Given the description of an element on the screen output the (x, y) to click on. 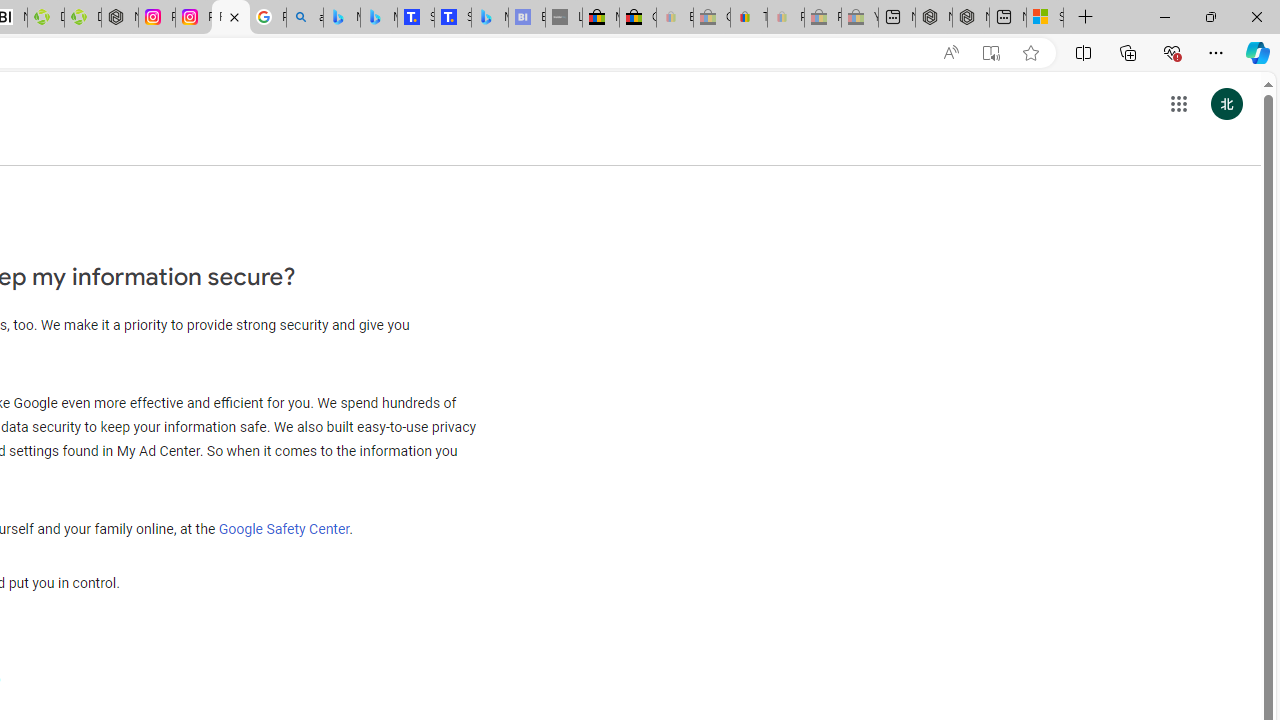
Google Safety Center (283, 528)
Microsoft Bing Travel - Shangri-La Hotel Bangkok (490, 17)
Yard, Garden & Outdoor Living - Sleeping (860, 17)
Nordace - Summer Adventures 2024 (971, 17)
Shangri-La Bangkok, Hotel reviews and Room rates (453, 17)
